Given the description of an element on the screen output the (x, y) to click on. 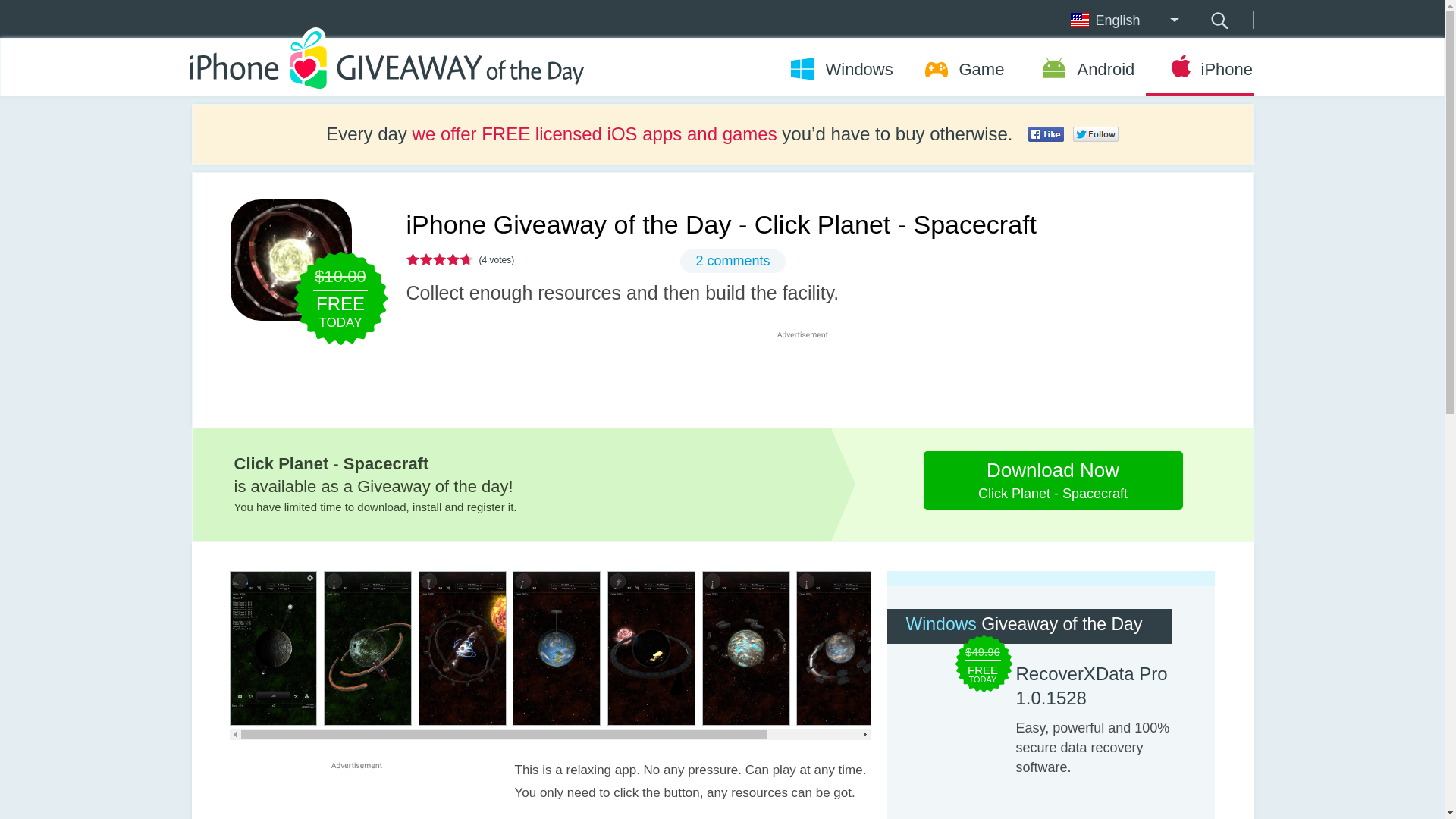
iPhone (1198, 69)
Android (1083, 69)
RecoverXData Pro 1.0.1528 (1096, 685)
Game (963, 69)
Like (1094, 133)
Search (1052, 480)
2 comments (1218, 20)
Advertisement (732, 260)
Like (355, 795)
Search (1045, 133)
Windows (1218, 20)
Advertisement (840, 69)
